Given the description of an element on the screen output the (x, y) to click on. 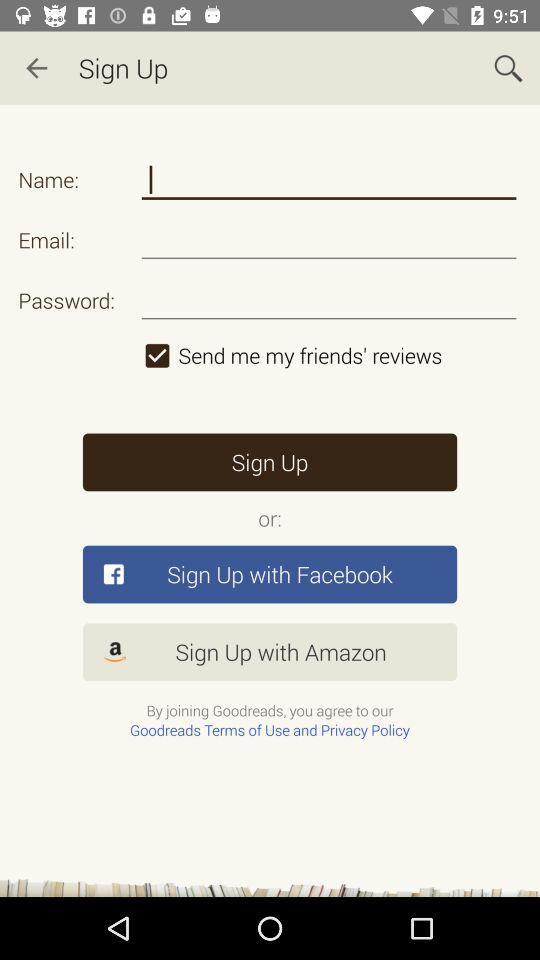
select the item next to name: item (328, 179)
